Given the description of an element on the screen output the (x, y) to click on. 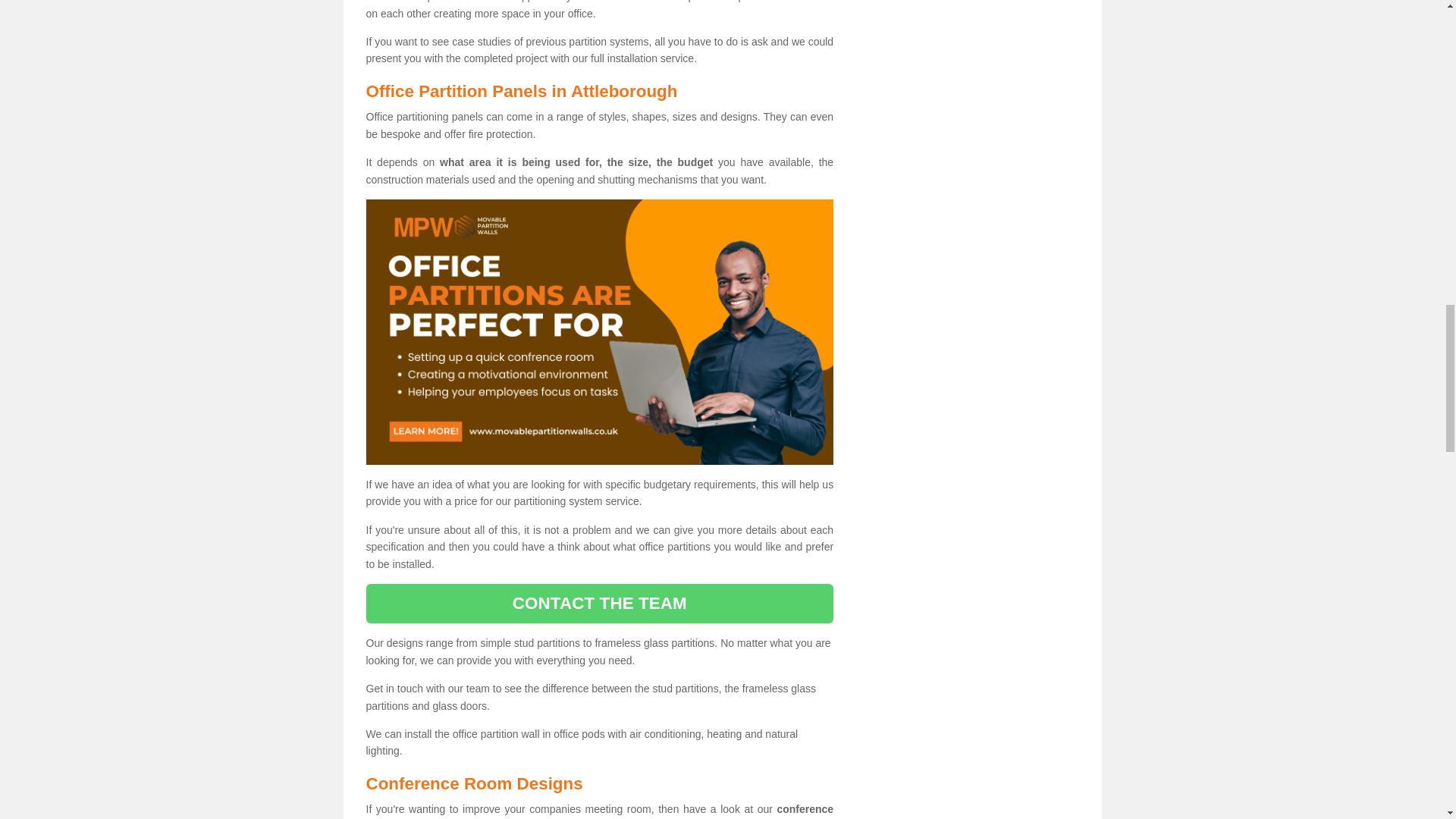
Office (598, 332)
CONTACT THE TEAM (598, 603)
